Given the description of an element on the screen output the (x, y) to click on. 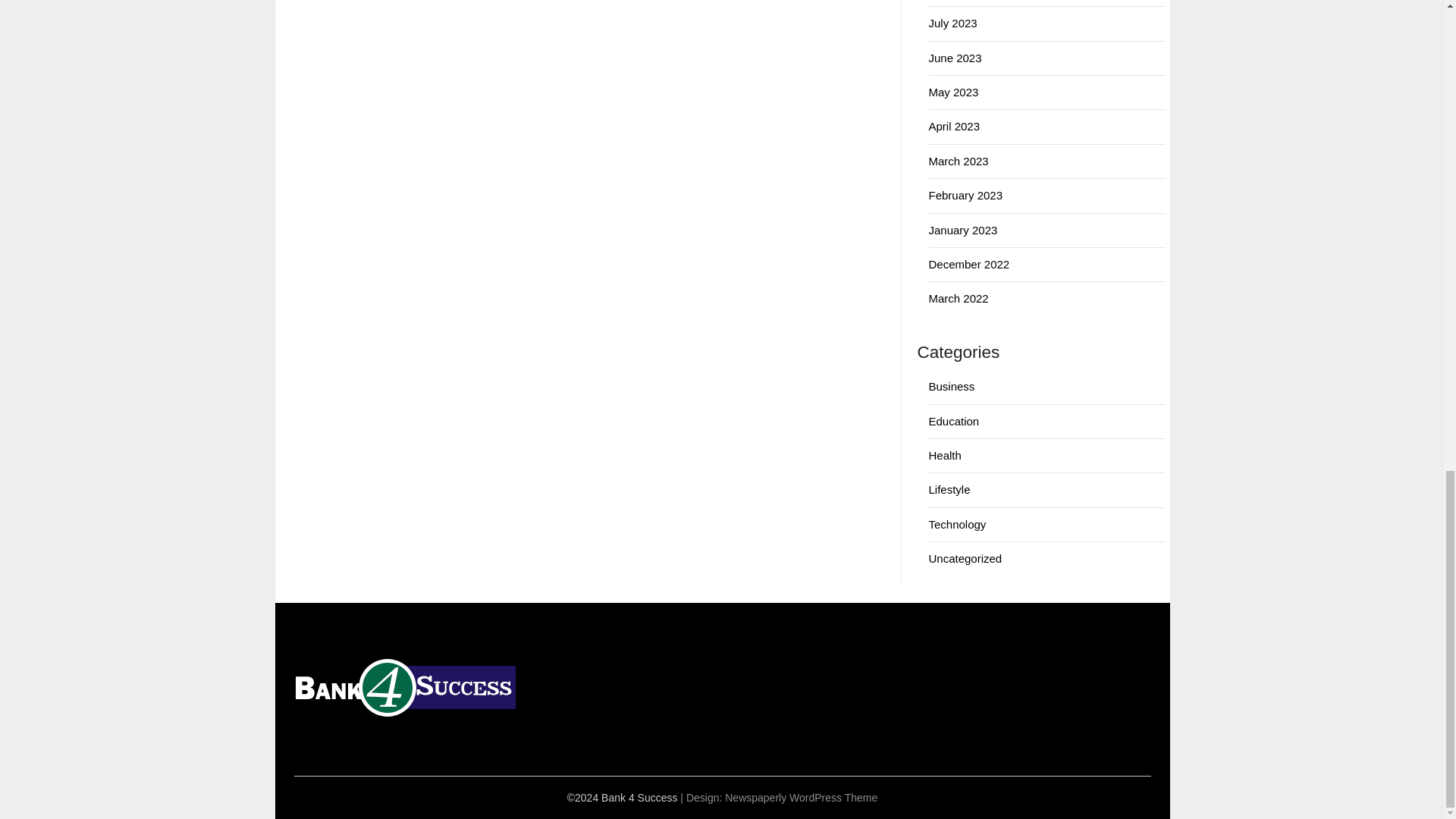
Business (951, 386)
December 2022 (968, 264)
March 2023 (958, 160)
Health (944, 454)
February 2023 (965, 195)
April 2023 (953, 125)
January 2023 (962, 229)
July 2023 (952, 22)
June 2023 (954, 57)
Education (953, 420)
March 2022 (958, 297)
May 2023 (953, 91)
